Given the description of an element on the screen output the (x, y) to click on. 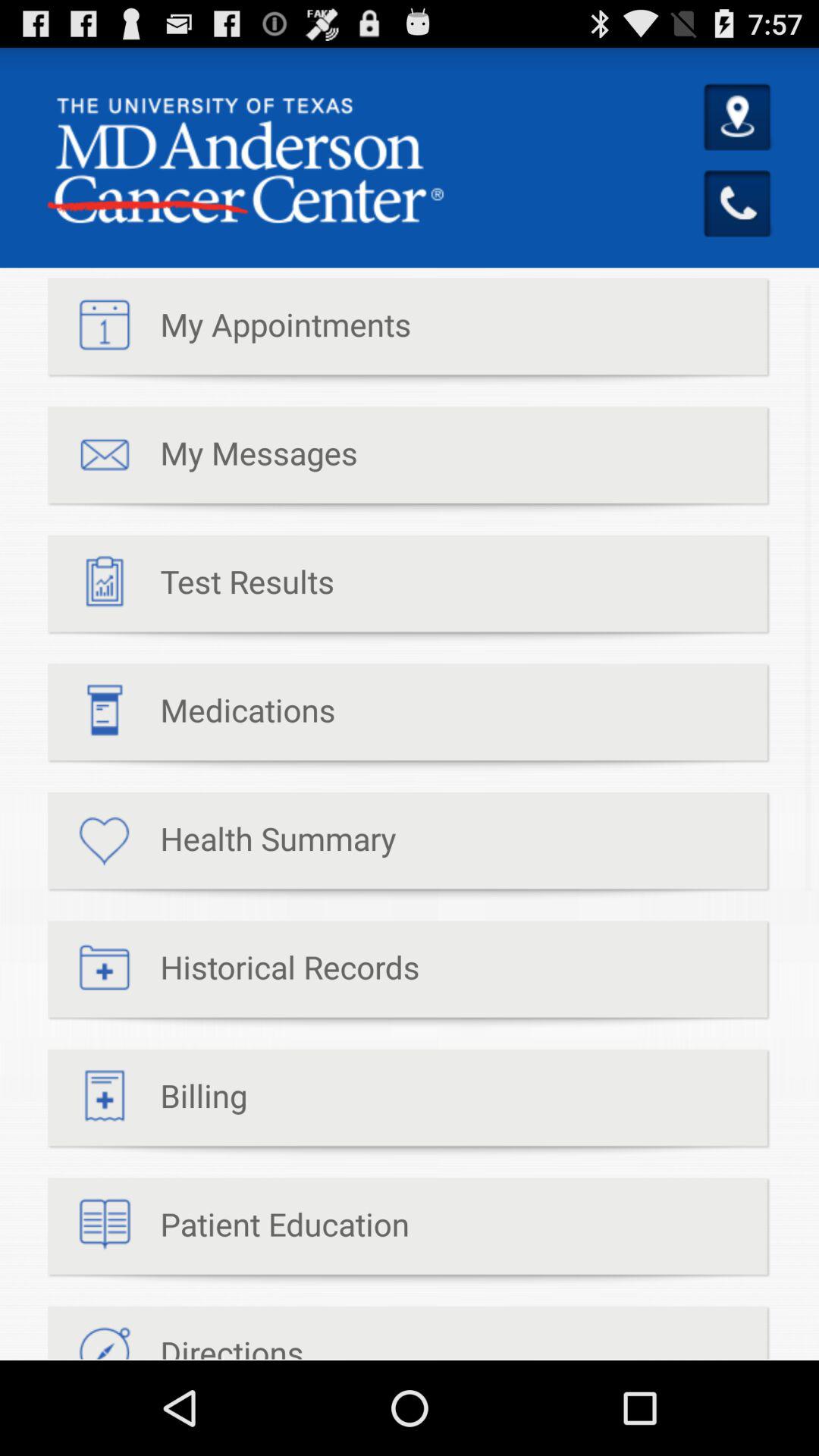
turn off item above the health summary (191, 717)
